Given the description of an element on the screen output the (x, y) to click on. 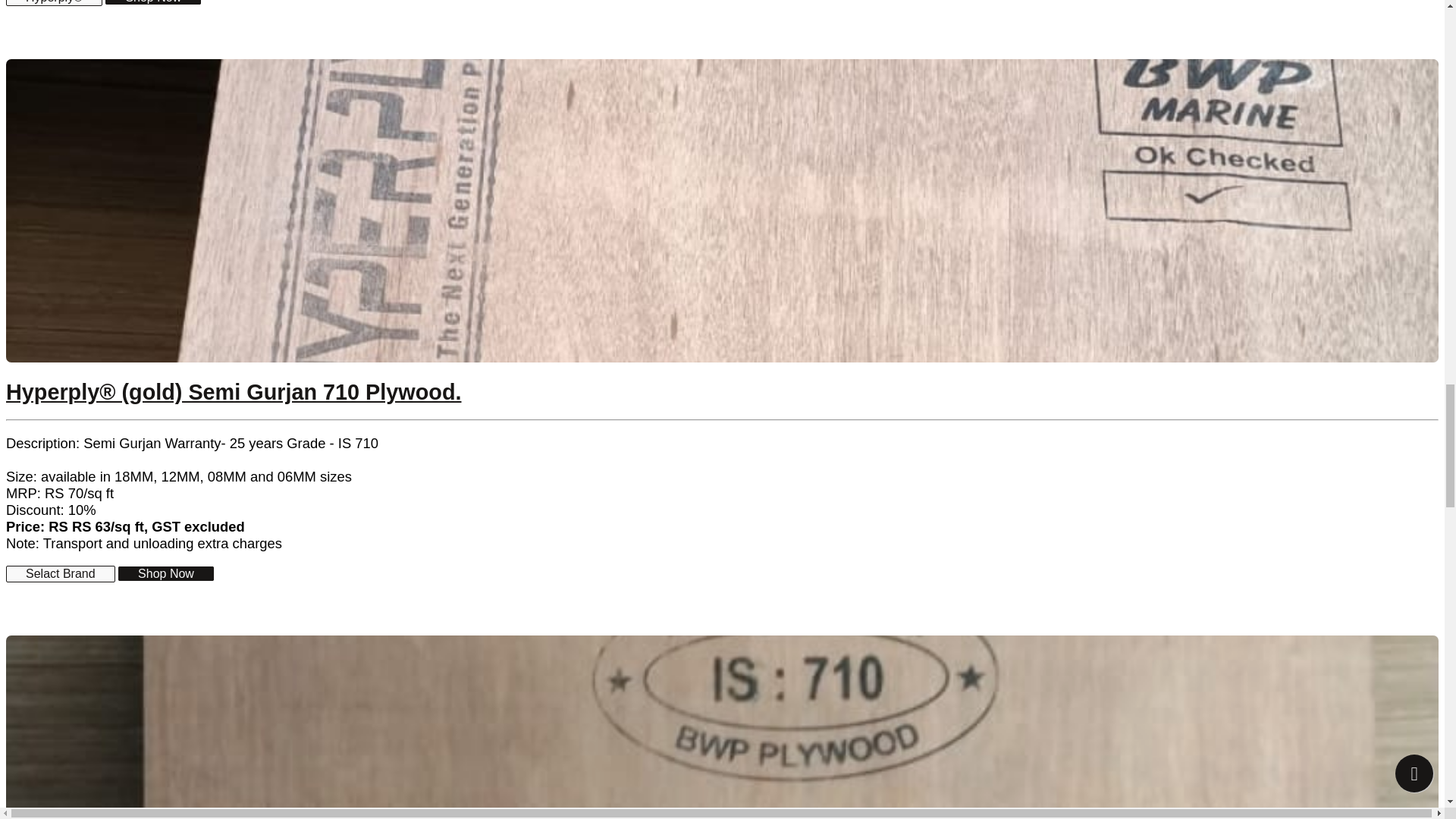
Selact Brand (60, 573)
Selact Brand (60, 573)
Shop Now (165, 573)
Shop Now (152, 2)
